Given the description of an element on the screen output the (x, y) to click on. 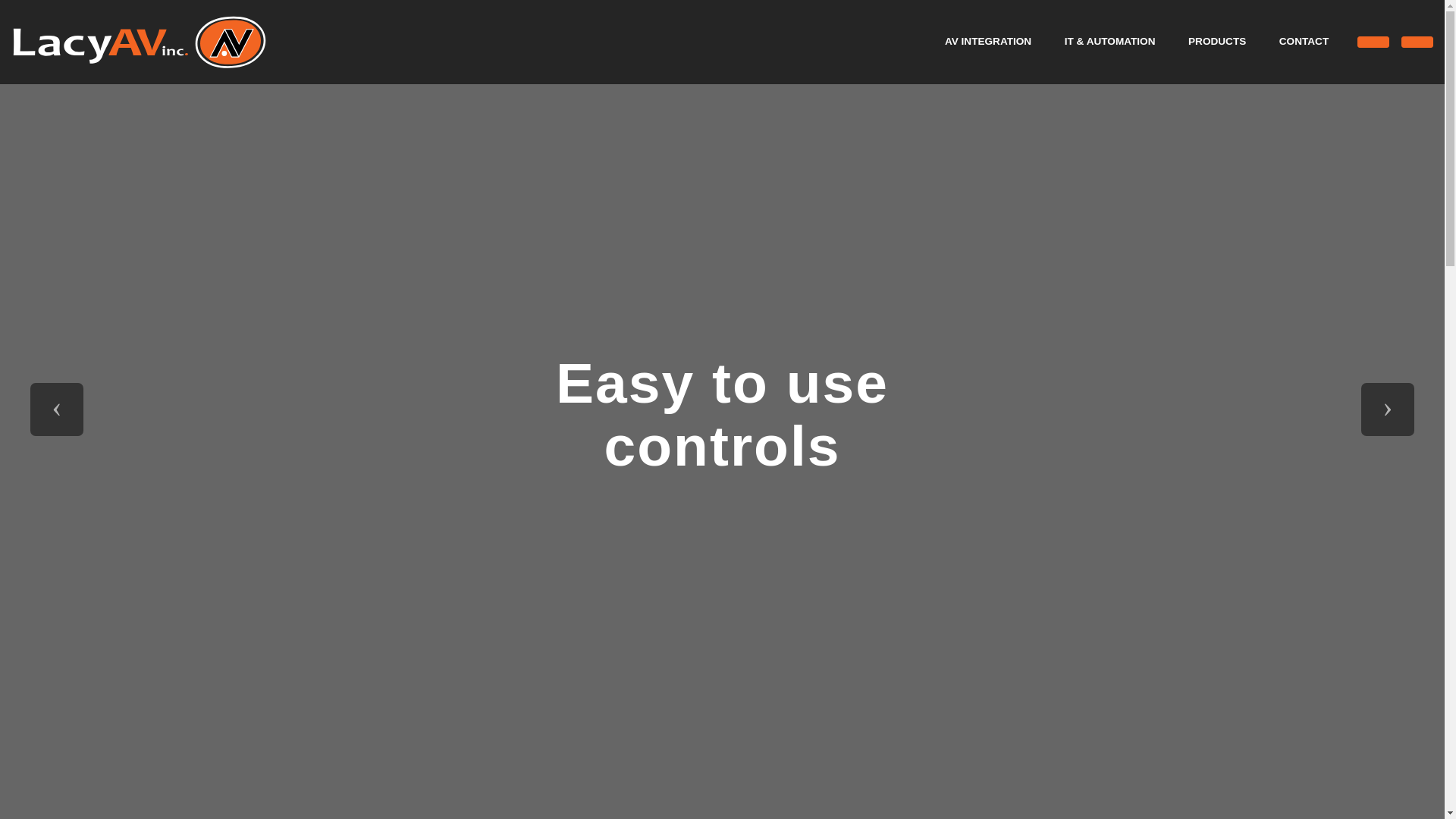
PRODUCTS (1217, 41)
Previous (56, 409)
CONTACT (1303, 41)
logo (138, 41)
Next (1387, 409)
AV INTEGRATION (987, 41)
